Given the description of an element on the screen output the (x, y) to click on. 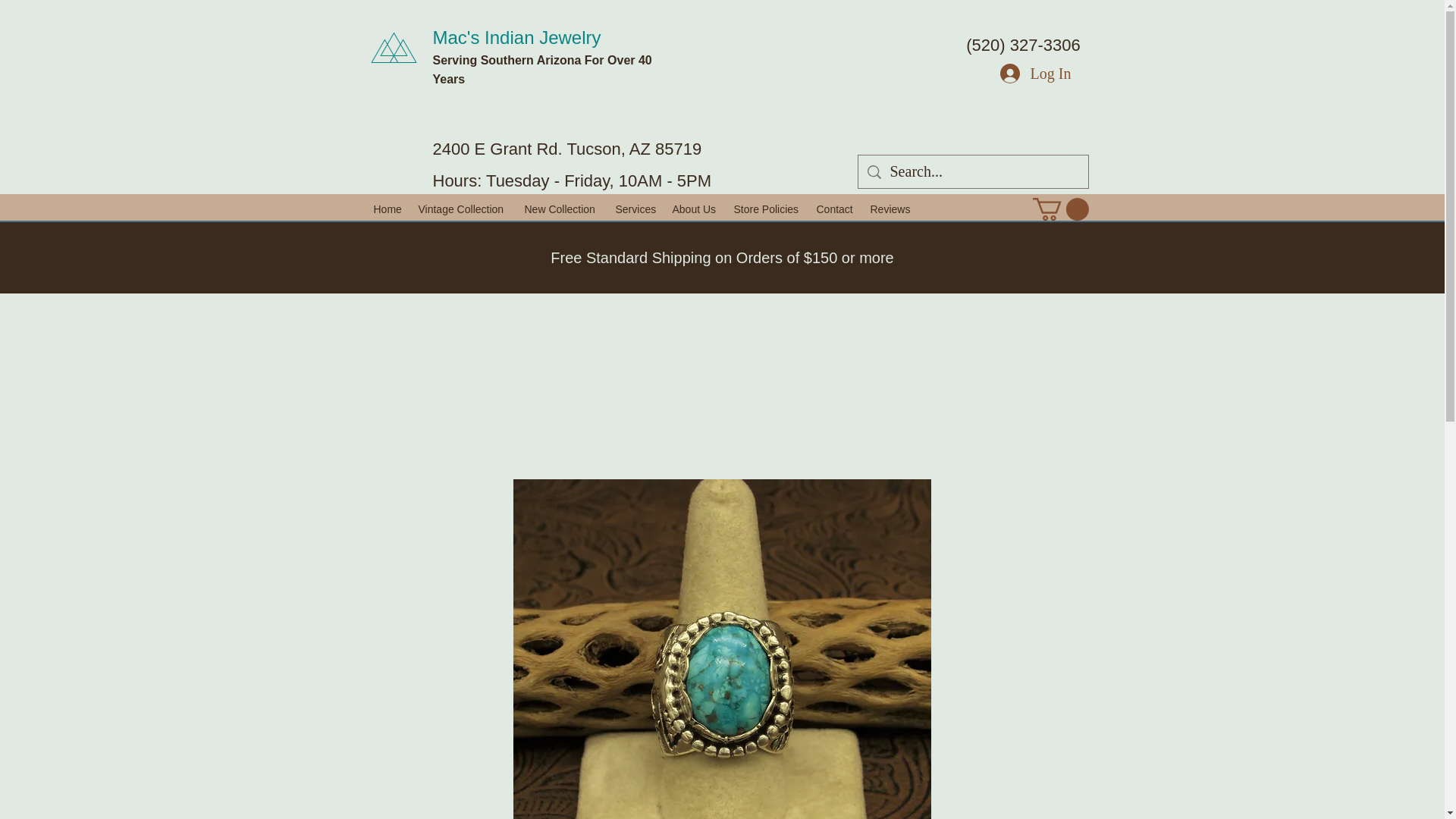
Mac's Indian Jewelry (515, 37)
Reviews (890, 209)
Services (636, 209)
Log In (1035, 72)
New Collection (562, 209)
Store Policies (767, 209)
Contact (834, 209)
About Us (694, 209)
Home (387, 209)
Vintage Collection (463, 209)
